Given the description of an element on the screen output the (x, y) to click on. 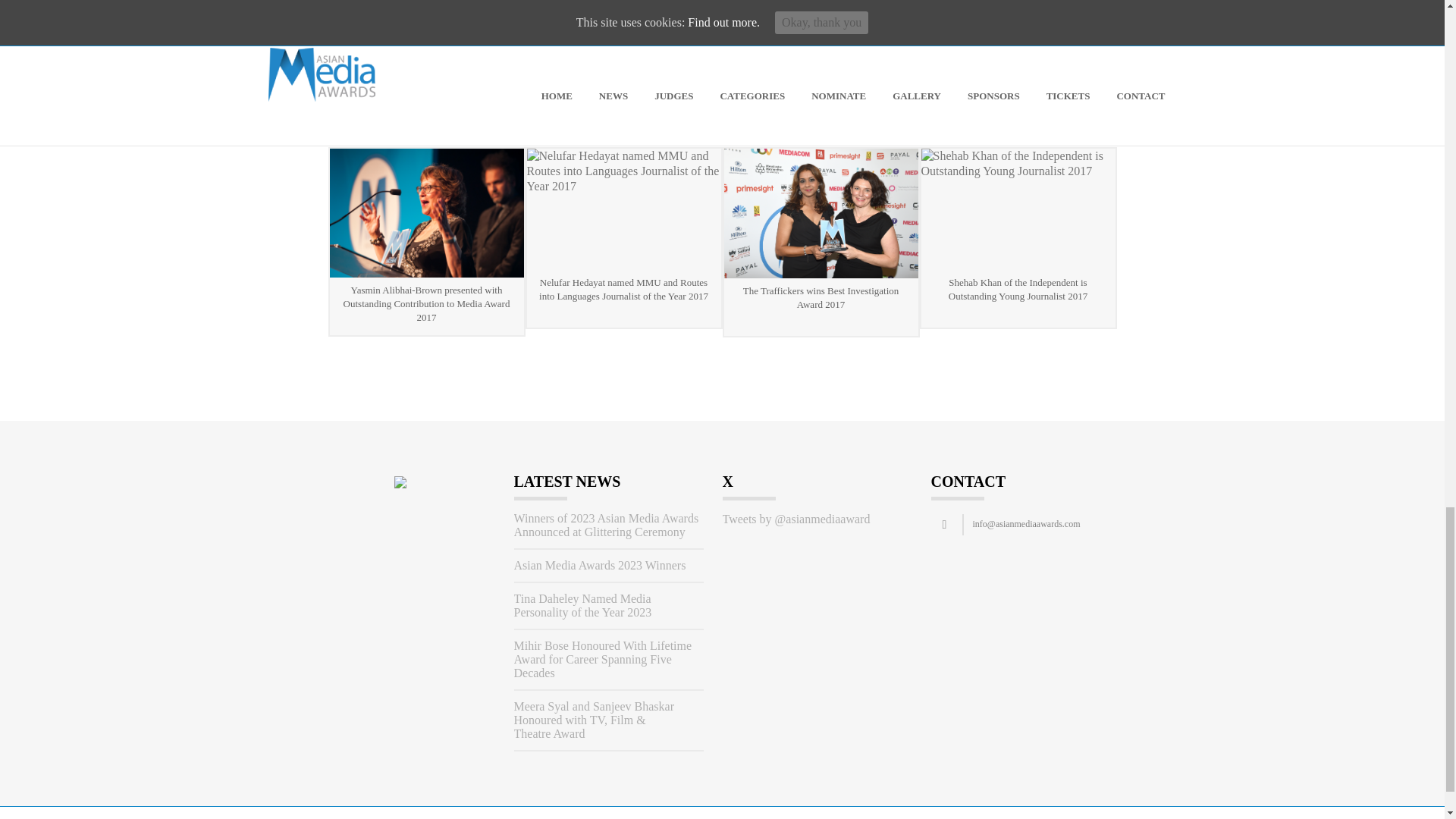
The Traffickers wins Best Investigation Award 2017 (820, 212)
